Given the description of an element on the screen output the (x, y) to click on. 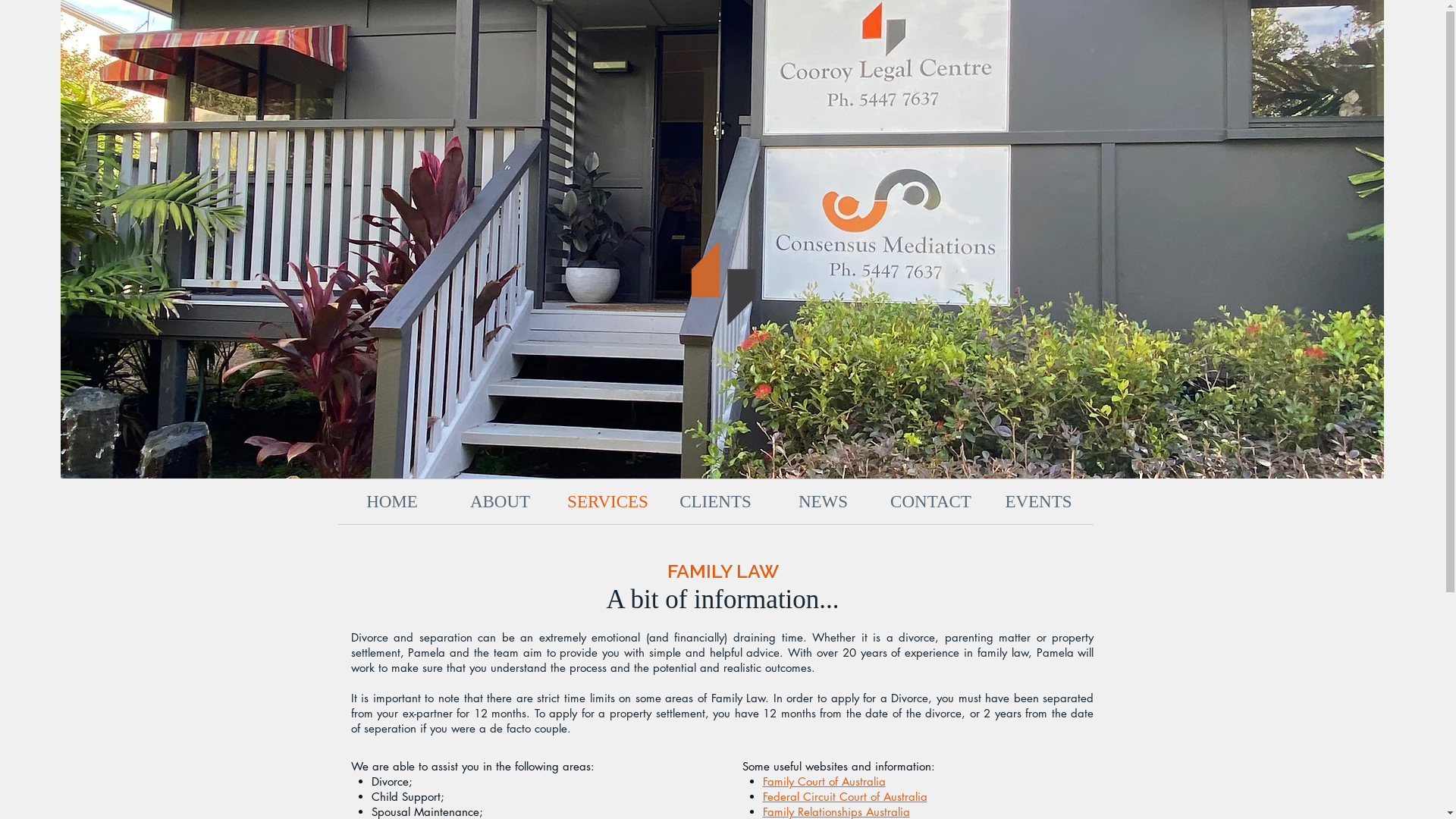
ABOUT Element type: text (499, 501)
CLIENTS Element type: text (714, 501)
HOME Element type: text (392, 501)
NEWS Element type: text (822, 501)
SERVICES Element type: text (607, 501)
Federal Circuit Court of Australia Element type: text (844, 796)
EVENTS Element type: text (1038, 501)
Family Court of Australia Element type: text (823, 781)
CONTACT Element type: text (930, 501)
